Given the description of an element on the screen output the (x, y) to click on. 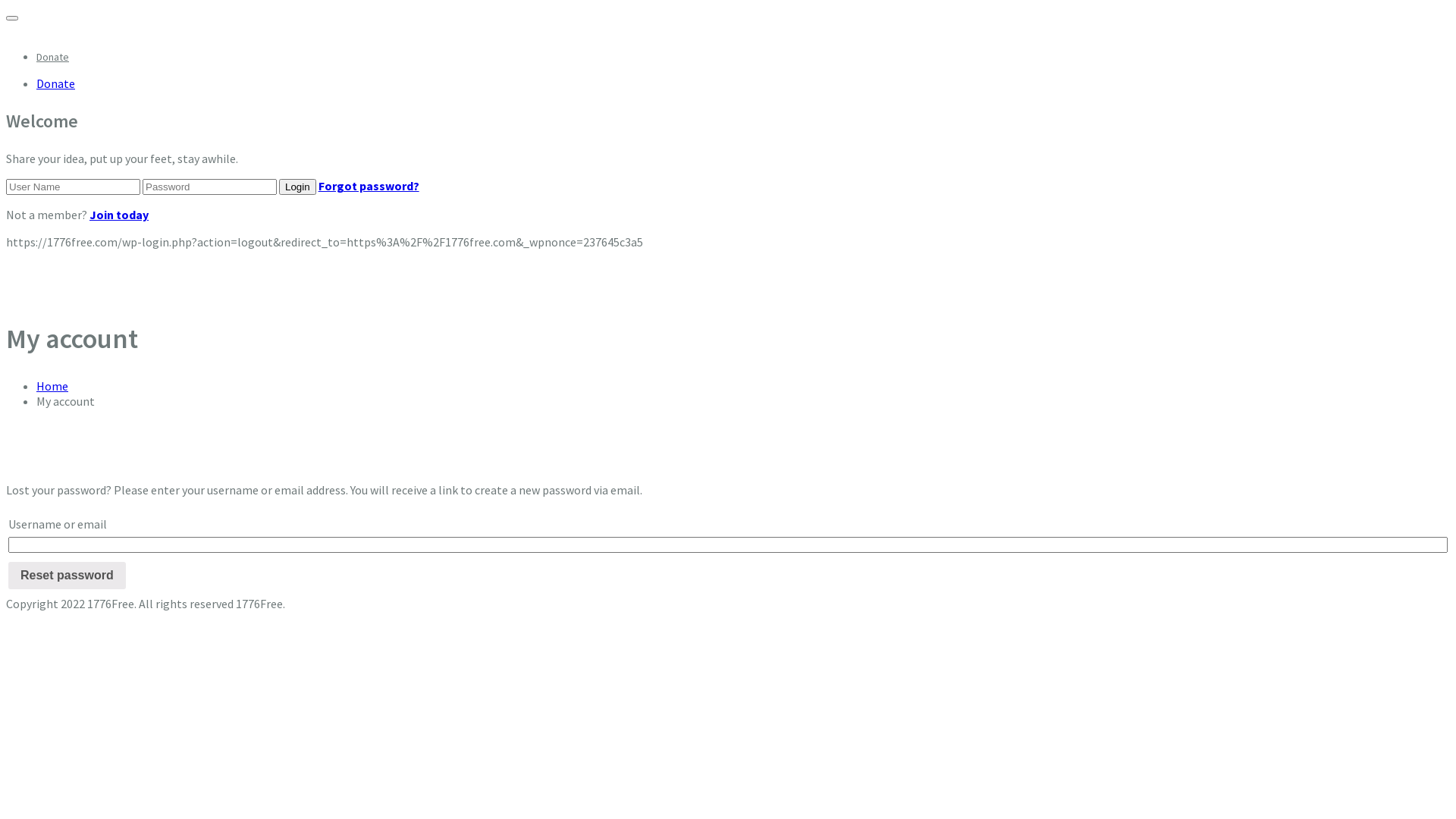
Forgot password? Element type: text (368, 185)
Donate Element type: text (55, 83)
Home Element type: text (52, 385)
Login Element type: text (297, 186)
Reset password Element type: text (66, 575)
Join today Element type: text (118, 214)
Donate Element type: text (52, 56)
